Given the description of an element on the screen output the (x, y) to click on. 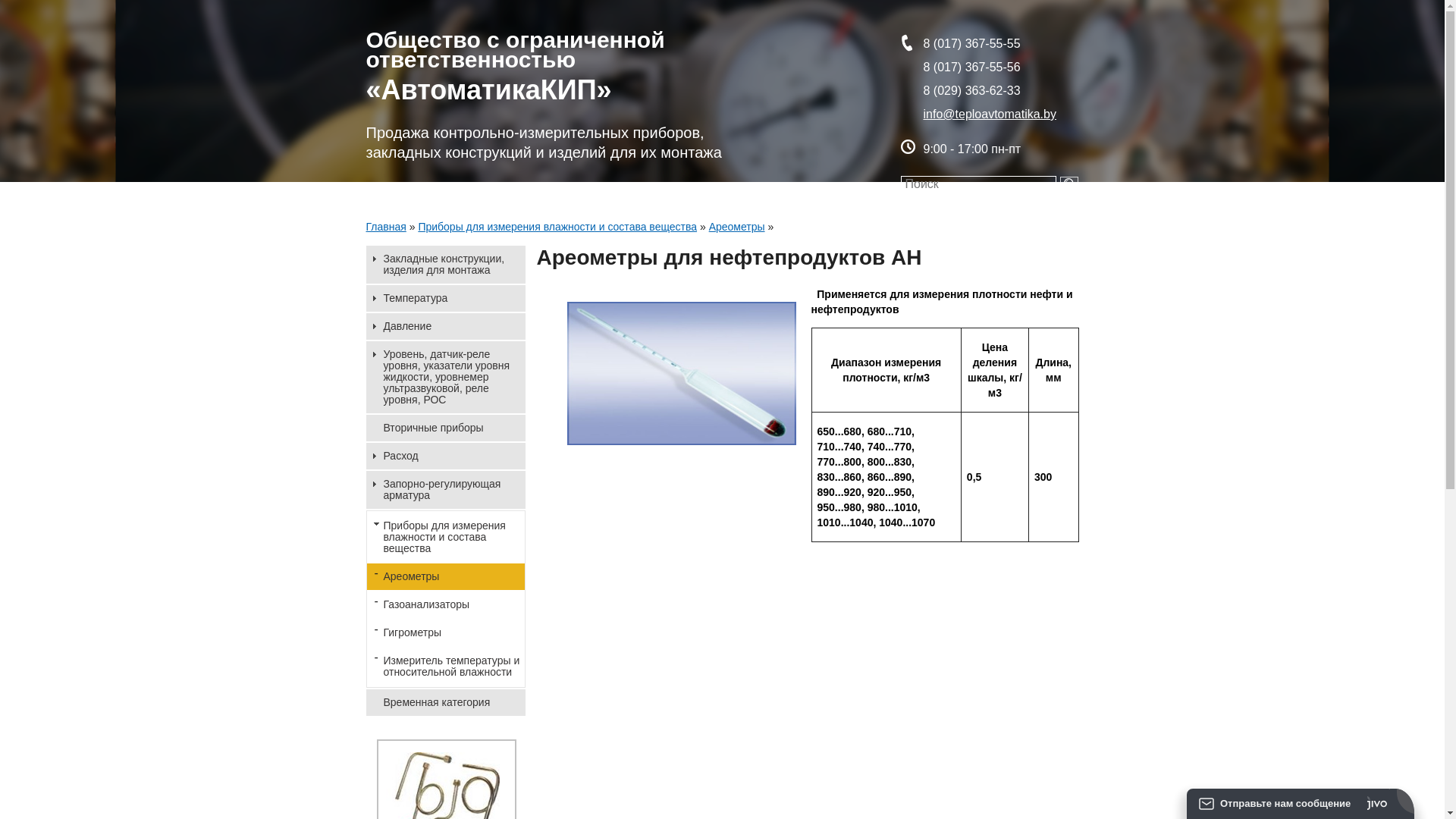
info@teploavtomatika.by Element type: text (989, 113)
